Given the description of an element on the screen output the (x, y) to click on. 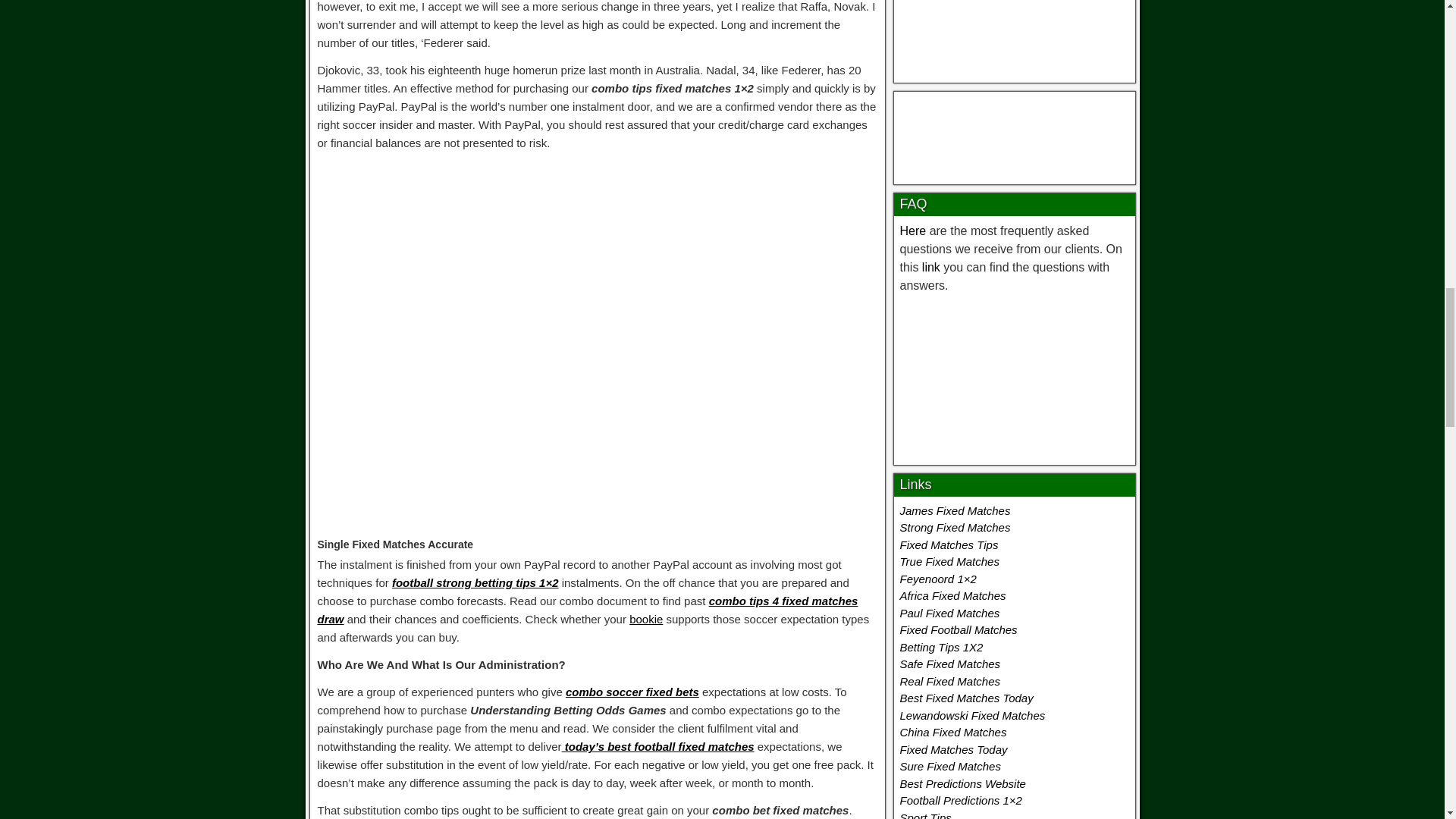
ticket big odds betting (1013, 376)
winning tips predictions sources (1013, 33)
bookie (645, 618)
combo tips 4 fixed matches draw (587, 609)
combo soccer fixed bets (632, 691)
handicap h2h fixed matches betting (1014, 134)
